Given the description of an element on the screen output the (x, y) to click on. 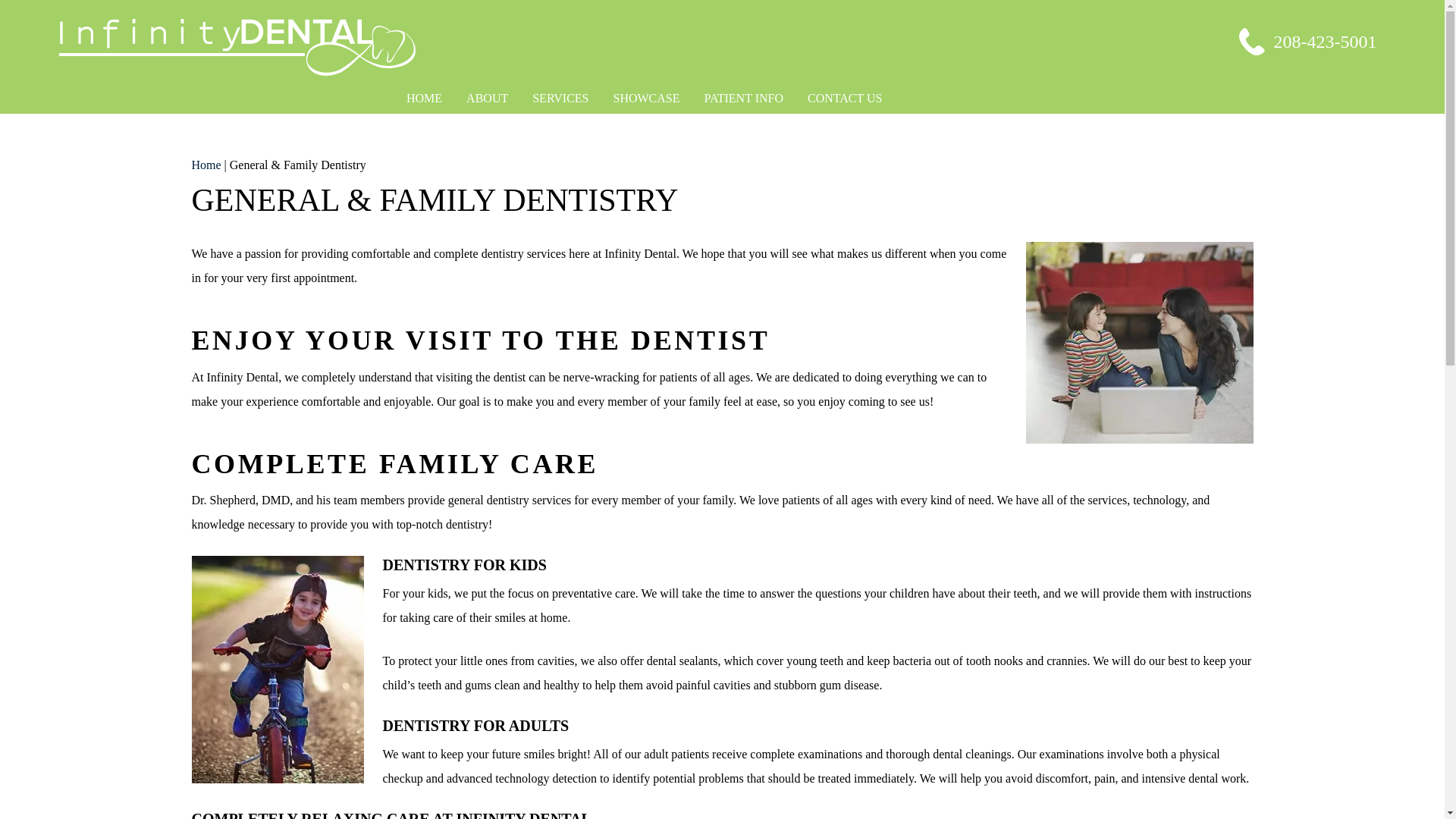
ABOUT (486, 98)
Home (205, 164)
Infinity Dental (477, 47)
SERVICES (559, 98)
CONTACT US (843, 98)
PATIENT INFO (743, 98)
208-423-5001 (1308, 41)
HOME (424, 98)
SHOWCASE (645, 98)
